Given the description of an element on the screen output the (x, y) to click on. 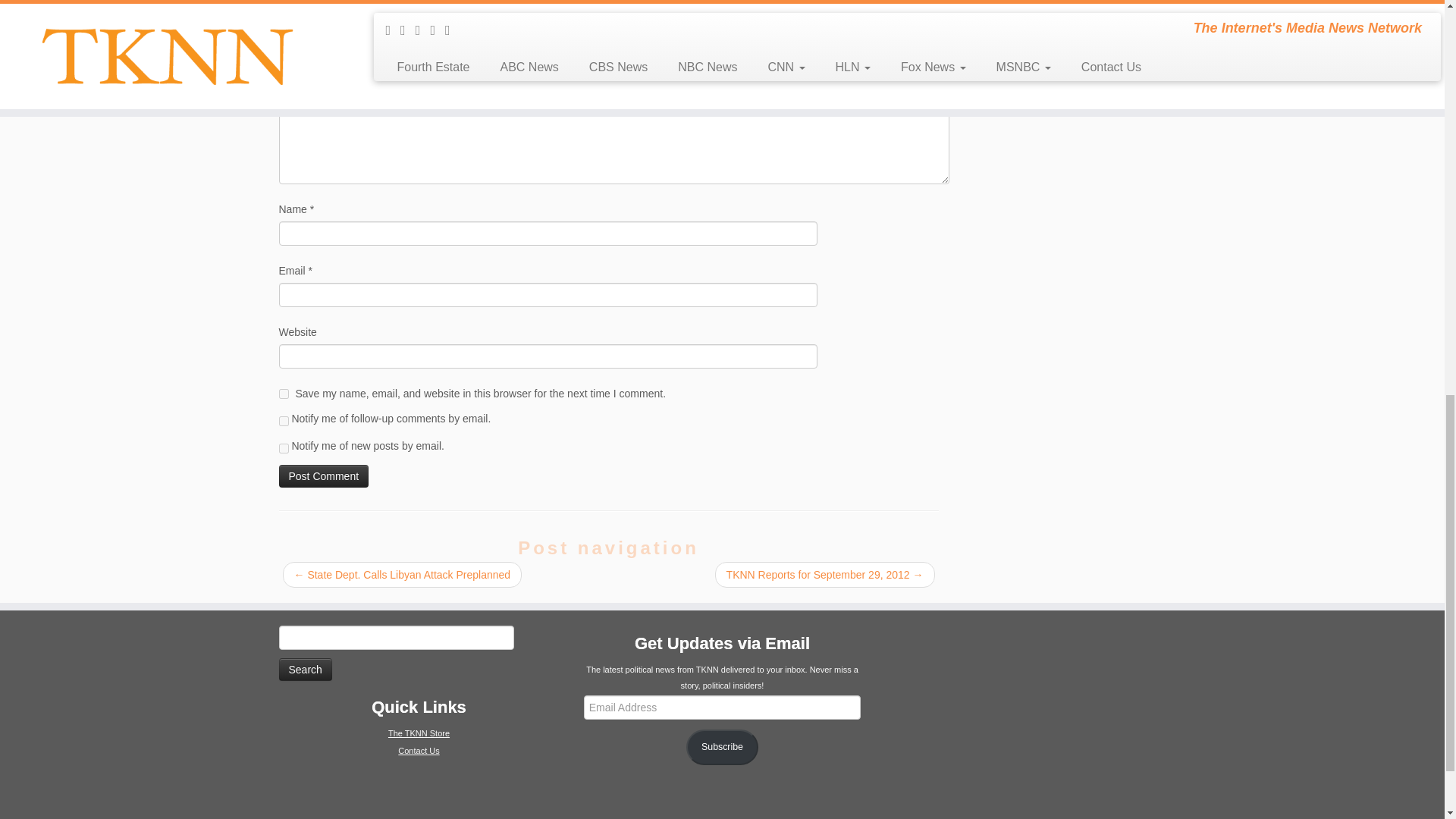
subscribe (283, 420)
yes (283, 393)
Search (305, 669)
Post Comment (324, 476)
subscribe (283, 448)
Post Comment (324, 476)
